Given the description of an element on the screen output the (x, y) to click on. 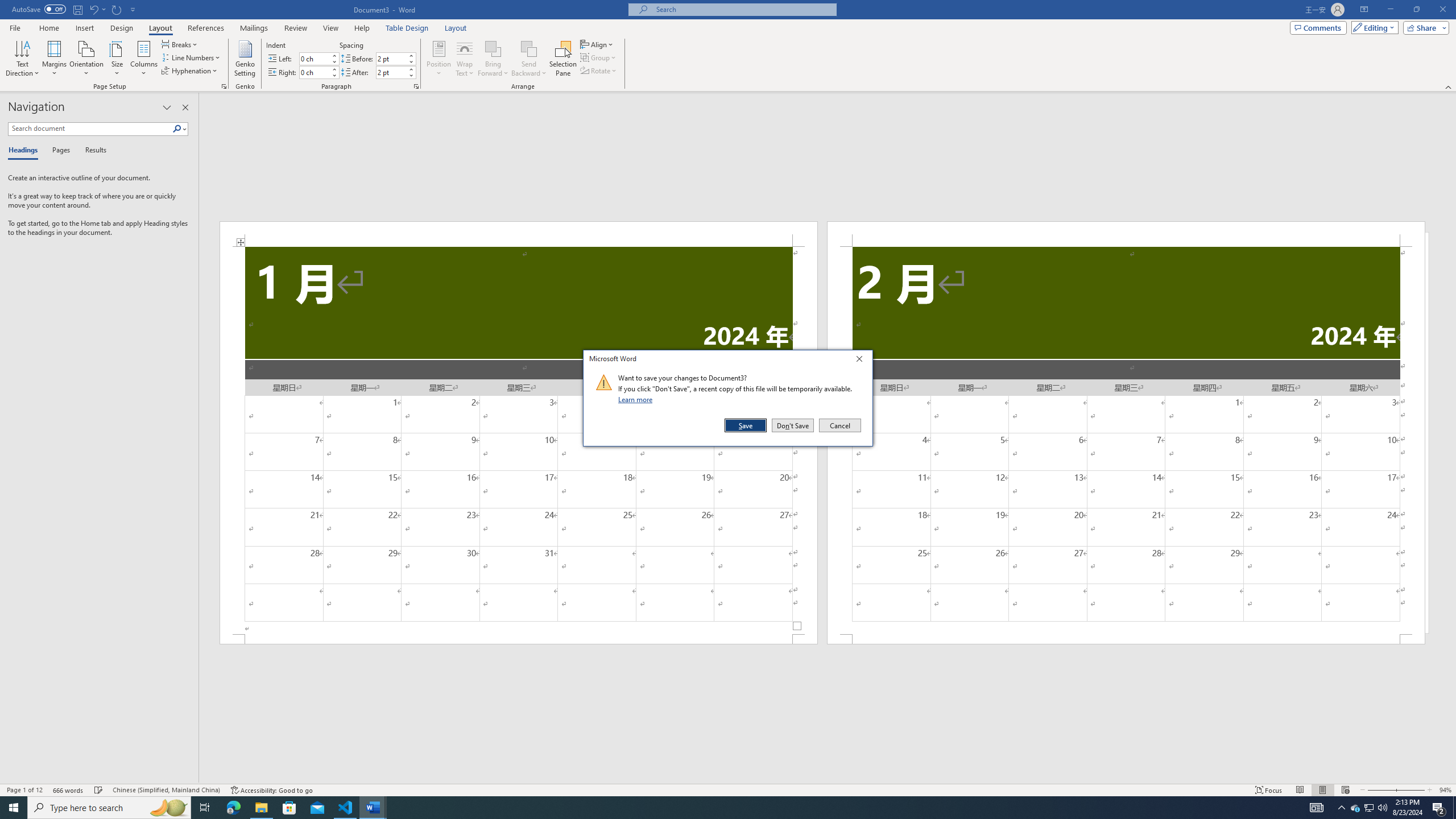
Page Setup... (223, 85)
Design (122, 28)
Search (179, 128)
Bring Forward (492, 48)
Size (116, 58)
Mailings (253, 28)
References (205, 28)
Ribbon Display Options (1364, 9)
